Given the description of an element on the screen output the (x, y) to click on. 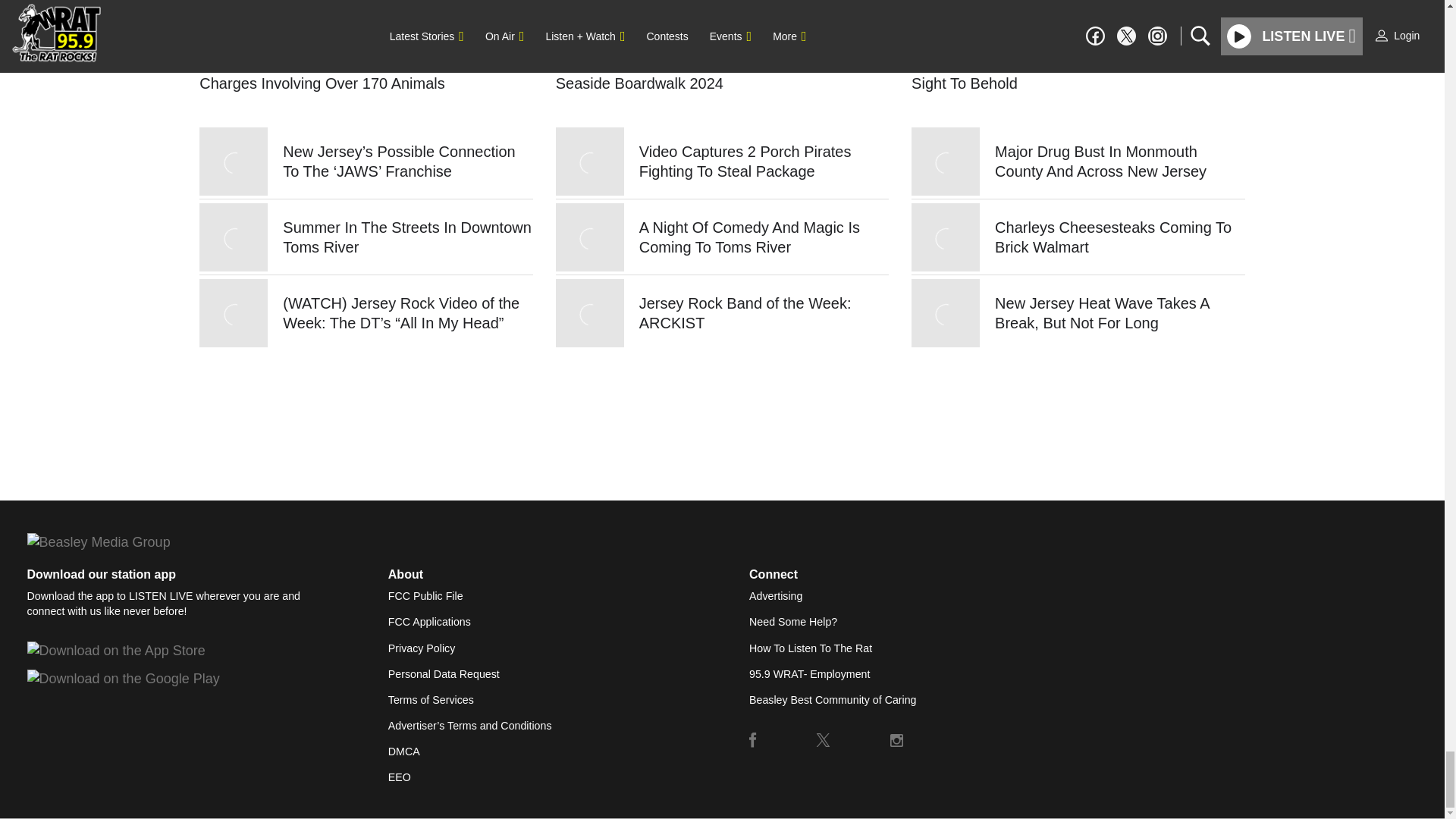
Twitter (823, 739)
Instagram (895, 739)
